Given the description of an element on the screen output the (x, y) to click on. 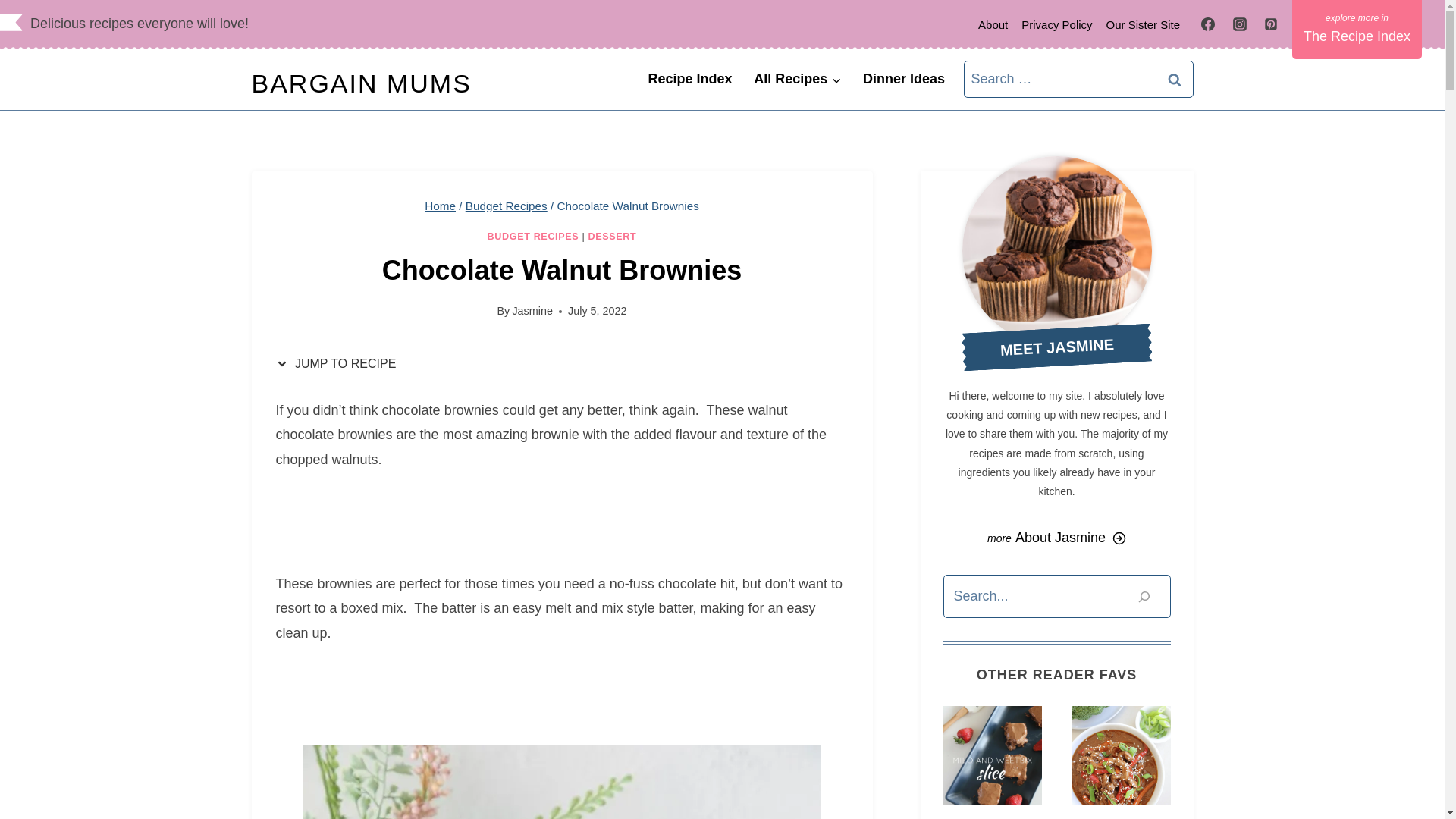
About (992, 24)
BARGAIN MUMS (361, 83)
Search (1174, 78)
Home (440, 205)
Jasmine (532, 310)
BUDGET RECIPES (533, 235)
Search (1174, 78)
All Recipes (796, 78)
Privacy Policy (1056, 24)
Budget Recipes (506, 205)
The Recipe Index (1357, 29)
Recipe Index (689, 78)
JUMP TO RECIPE (340, 364)
Our Sister Site (1143, 24)
DESSERT (612, 235)
